Given the description of an element on the screen output the (x, y) to click on. 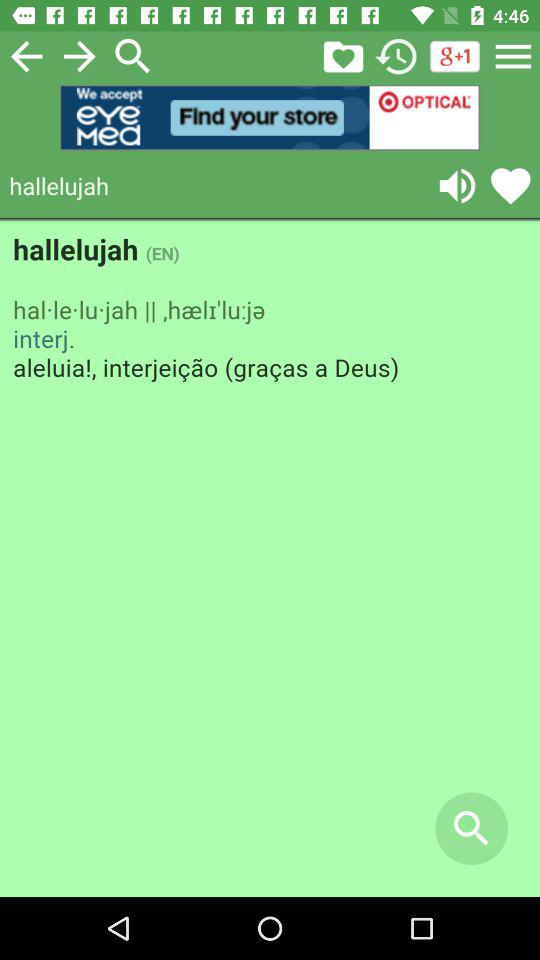
visit eye med (270, 117)
